Given the description of an element on the screen output the (x, y) to click on. 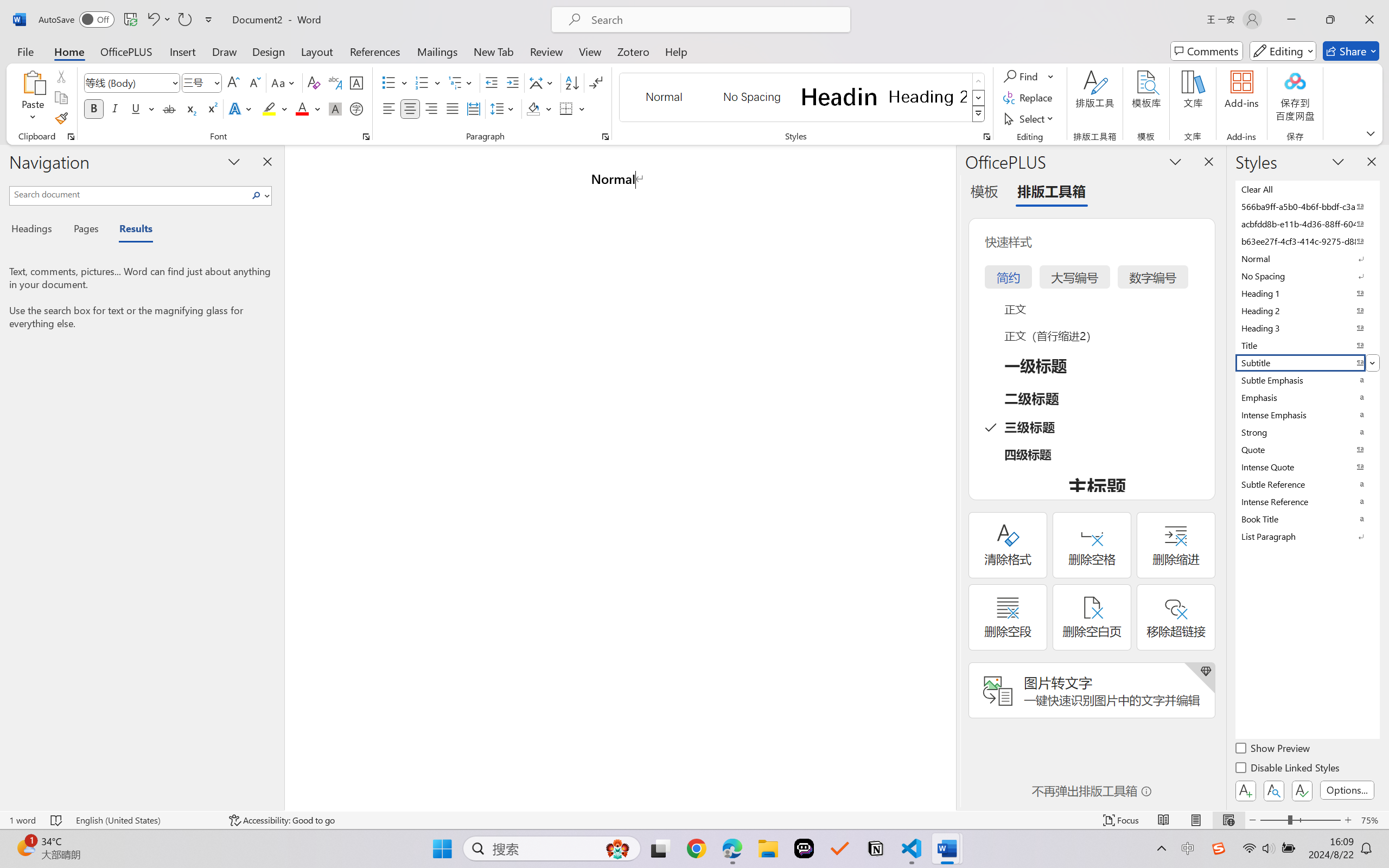
Change Case (284, 82)
Justify (452, 108)
Align Right (431, 108)
Paste (33, 81)
Mailings (437, 51)
Paragraph... (605, 136)
Row up (978, 81)
Strong (1306, 431)
No Spacing (1306, 275)
Styles... (986, 136)
Find (1029, 75)
acbfdd8b-e11b-4d36-88ff-6049b138f862 (1306, 223)
